Given the description of an element on the screen output the (x, y) to click on. 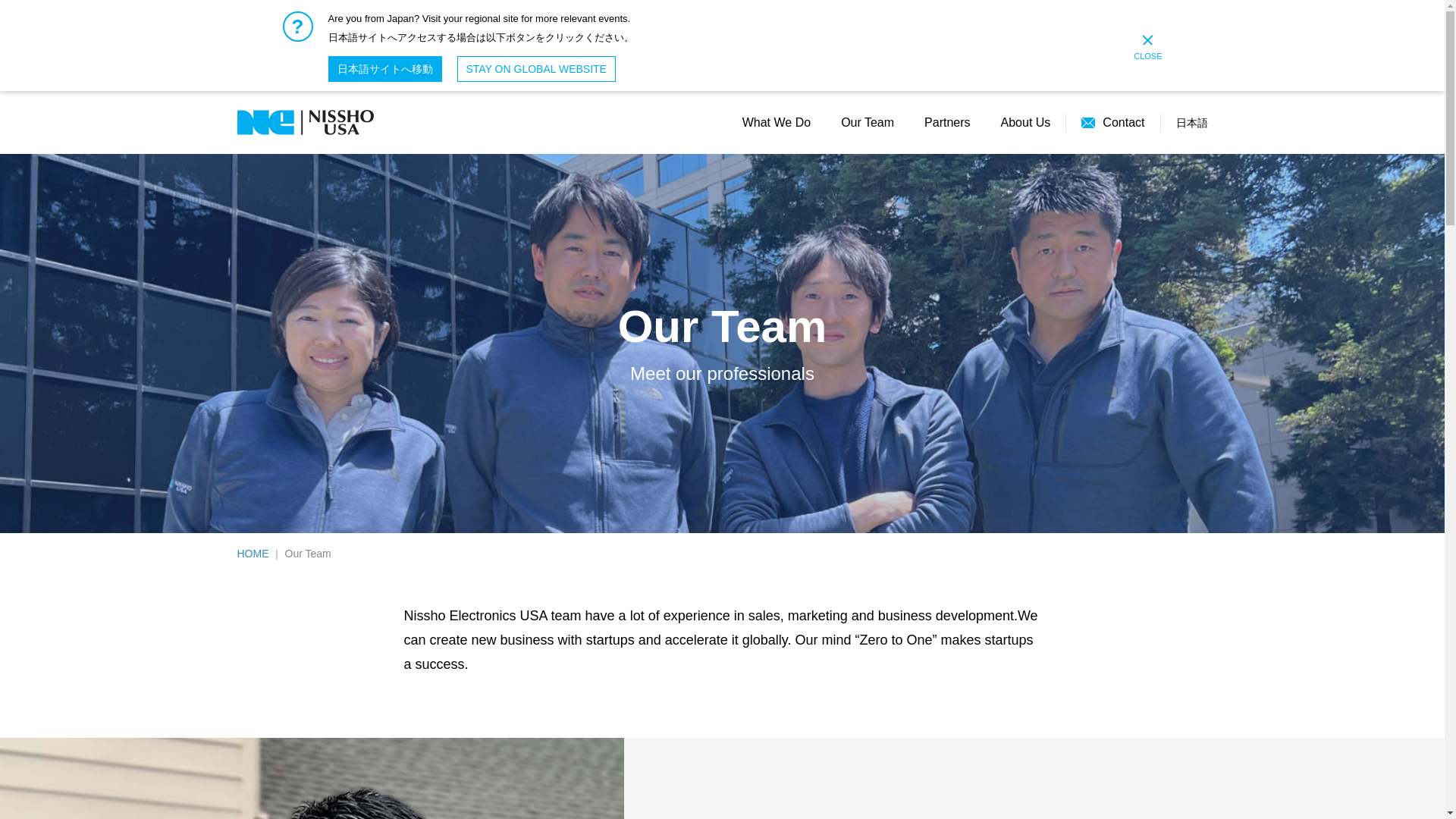
HOME (251, 553)
Our Team (308, 553)
What We Do (776, 122)
Partners (946, 122)
STAY ON GLOBAL WEBSITE (535, 68)
Our Team (867, 122)
CLOSE (1147, 46)
Contact (1112, 122)
About Us (1026, 122)
